Given the description of an element on the screen output the (x, y) to click on. 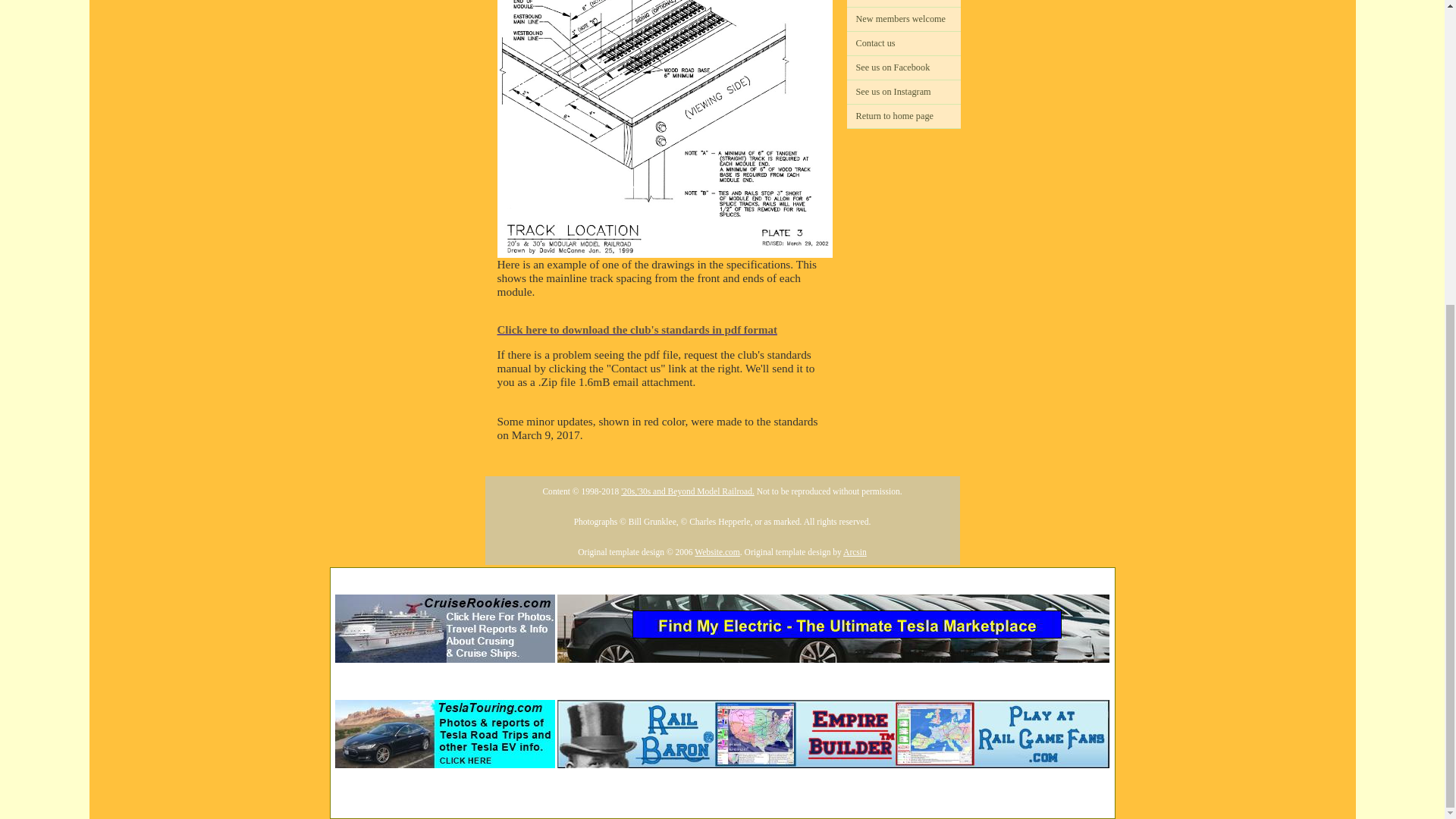
Return to home page (902, 115)
Contact us (902, 43)
Advertisement (721, 787)
New members welcome (902, 19)
Arcsin (854, 551)
See us on Instagram (902, 92)
History (902, 3)
Website.com (716, 551)
Click here to download the club's standards in pdf format (664, 335)
Advertisement (721, 577)
See us on Facebook (902, 67)
Advertisement (721, 682)
'20s,'30s and Beyond Model Railroad. (687, 491)
